Given the description of an element on the screen output the (x, y) to click on. 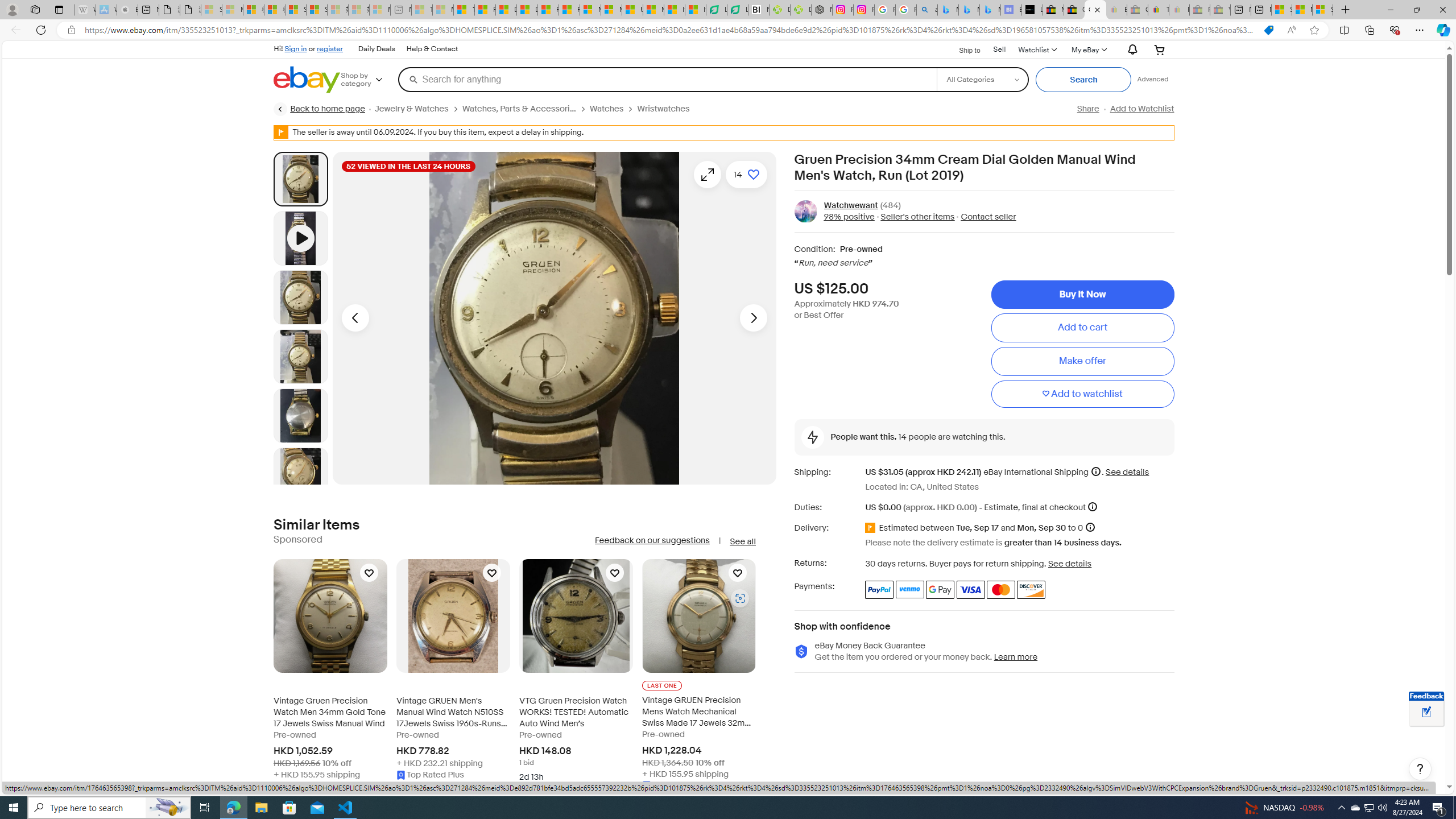
Sell (999, 49)
Watches (613, 108)
Wikipedia - Sleeping (84, 9)
  Seller's other items (914, 216)
Previous image - Item images thumbnails (354, 318)
Add to watchlist - 14 watchers (746, 174)
Sign in (295, 48)
WatchlistExpand Watch List (1036, 49)
Sign in to your Microsoft account - Sleeping (211, 9)
Threats and offensive language policy | eBay (1157, 9)
WARNING (280, 131)
